Given the description of an element on the screen output the (x, y) to click on. 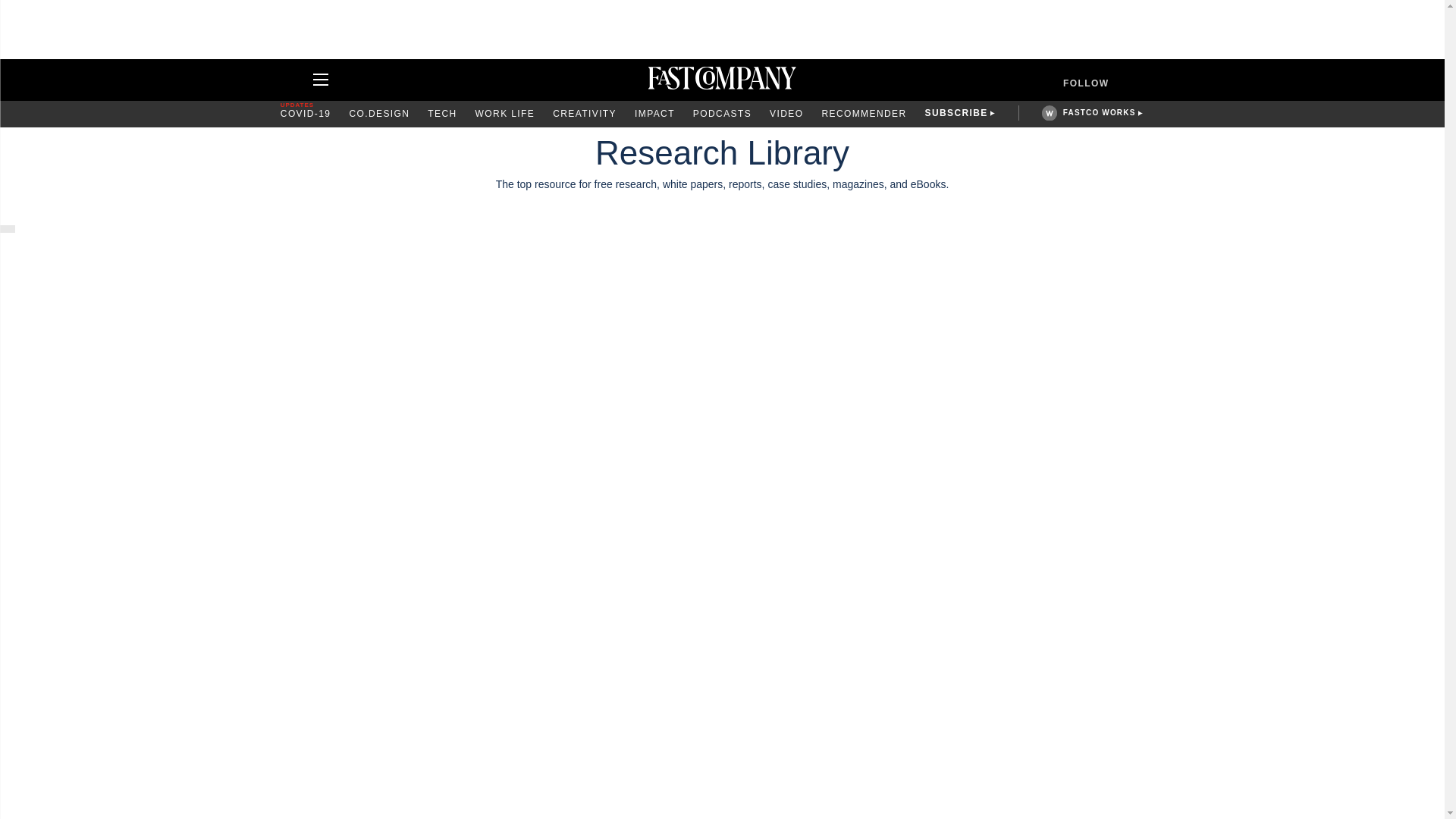
FASTCO WORKS (1098, 112)
Work Life (505, 113)
COVID-19 (306, 113)
Tech (442, 113)
IMPACT (654, 113)
TECH (442, 113)
Recommender (863, 113)
Creativity (584, 113)
RECOMMENDER (863, 113)
Podcasts (722, 113)
